Given the description of an element on the screen output the (x, y) to click on. 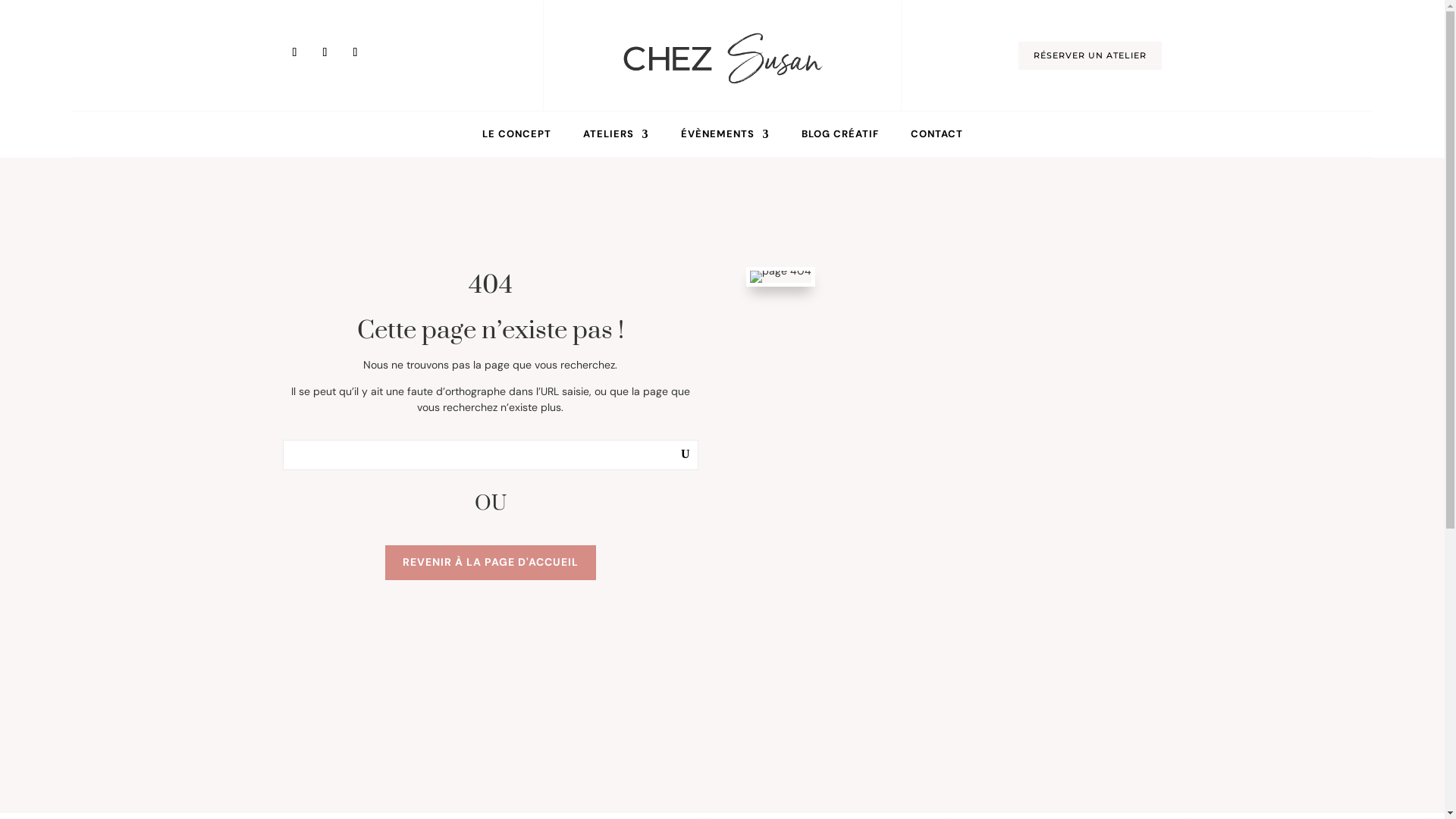
Suivez sur Instagram Element type: hover (294, 52)
Suivez sur Pinterest Element type: hover (324, 52)
Chercher Element type: text (667, 454)
chezsusan-logo-blog Element type: hover (721, 55)
page-404 Element type: hover (780, 276)
ATELIERS Element type: text (615, 136)
CONTACT Element type: text (936, 136)
Suivez sur Facebook Element type: hover (354, 52)
LE CONCEPT Element type: text (516, 136)
